Given the description of an element on the screen output the (x, y) to click on. 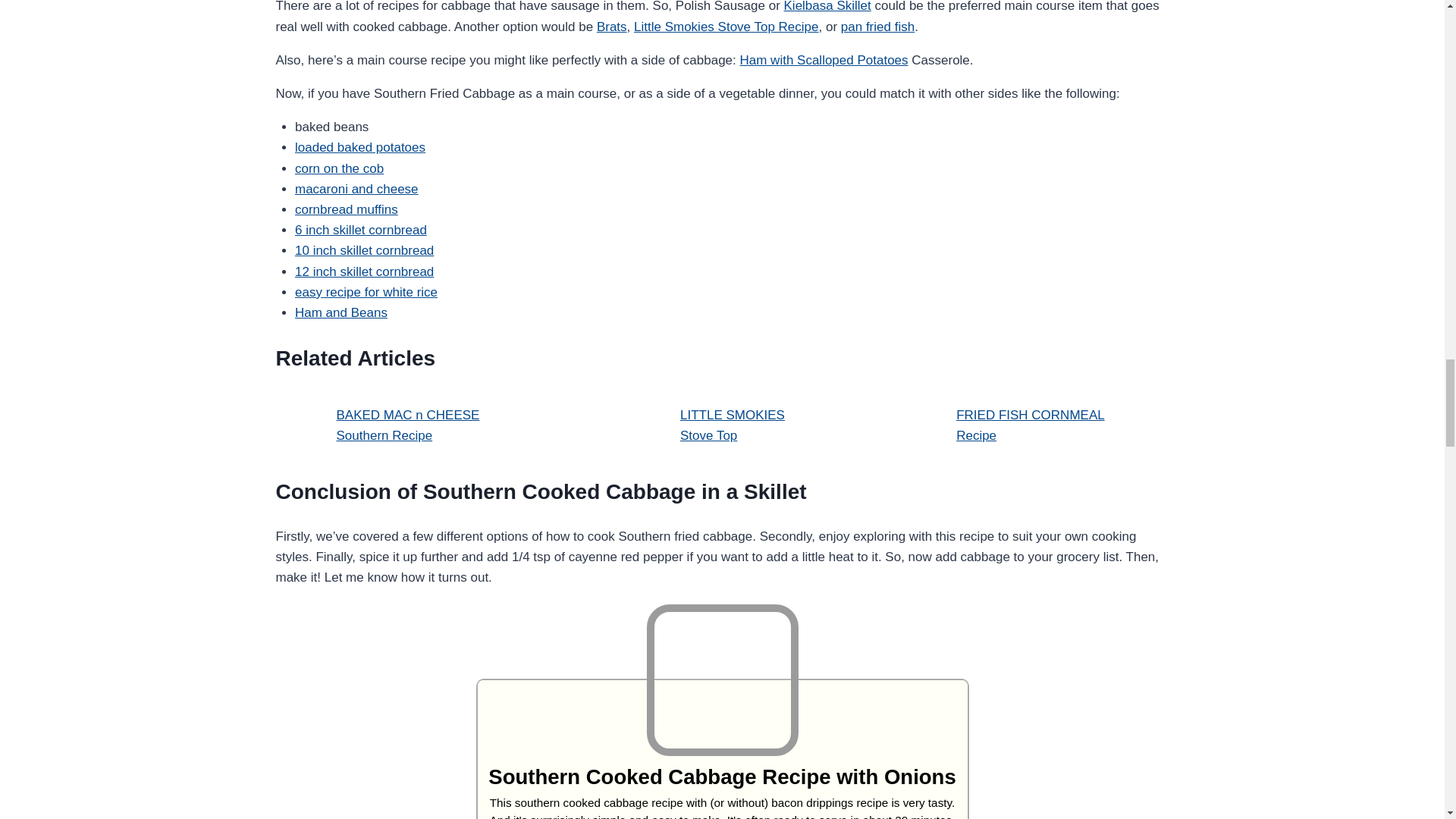
pan fried fish (877, 26)
corn on the cob (339, 168)
Ham with Scalloped Potatoes (823, 60)
macaroni and cheese (357, 188)
Brats (611, 26)
6 inch skillet cornbread (360, 229)
loaded baked potatoes (360, 147)
Kielbasa Skillet (827, 6)
cornbread muffins (346, 209)
Little Smokies Stove Top Recipe (725, 26)
